Given the description of an element on the screen output the (x, y) to click on. 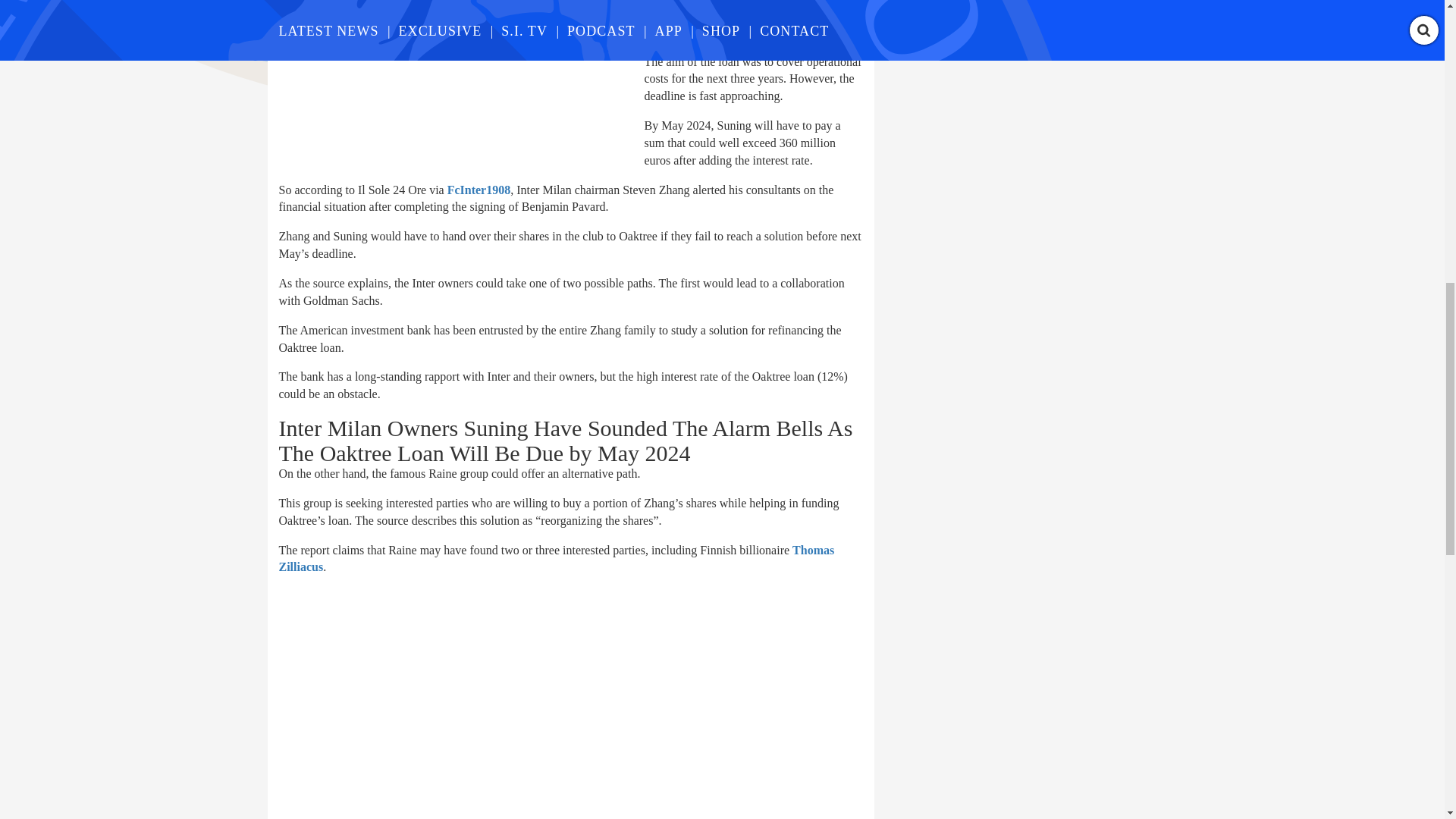
FcInter1908 (478, 189)
Thomas Zilliacus (556, 558)
YouTube video player (491, 703)
